Given the description of an element on the screen output the (x, y) to click on. 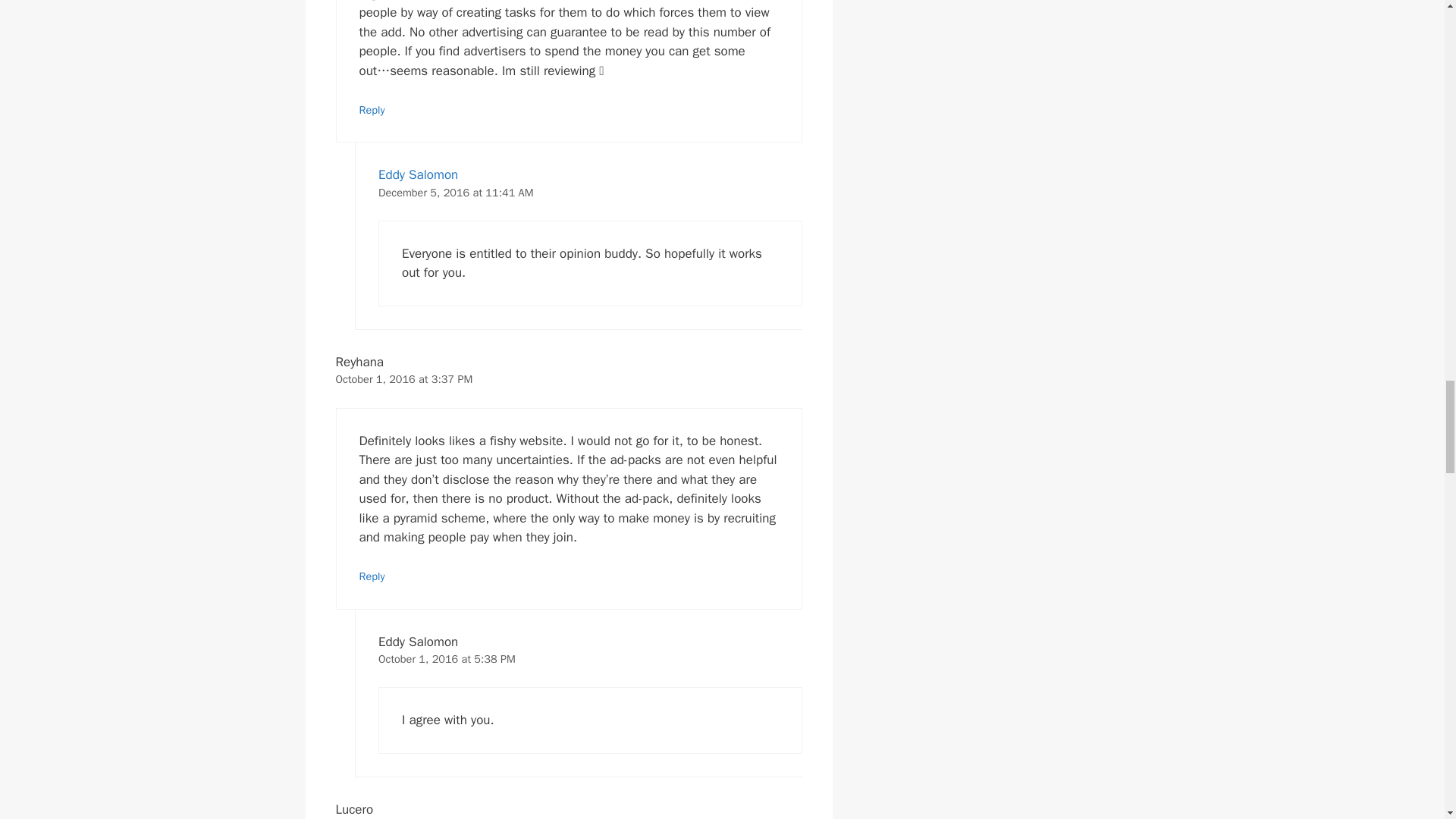
Reply (372, 110)
